Given the description of an element on the screen output the (x, y) to click on. 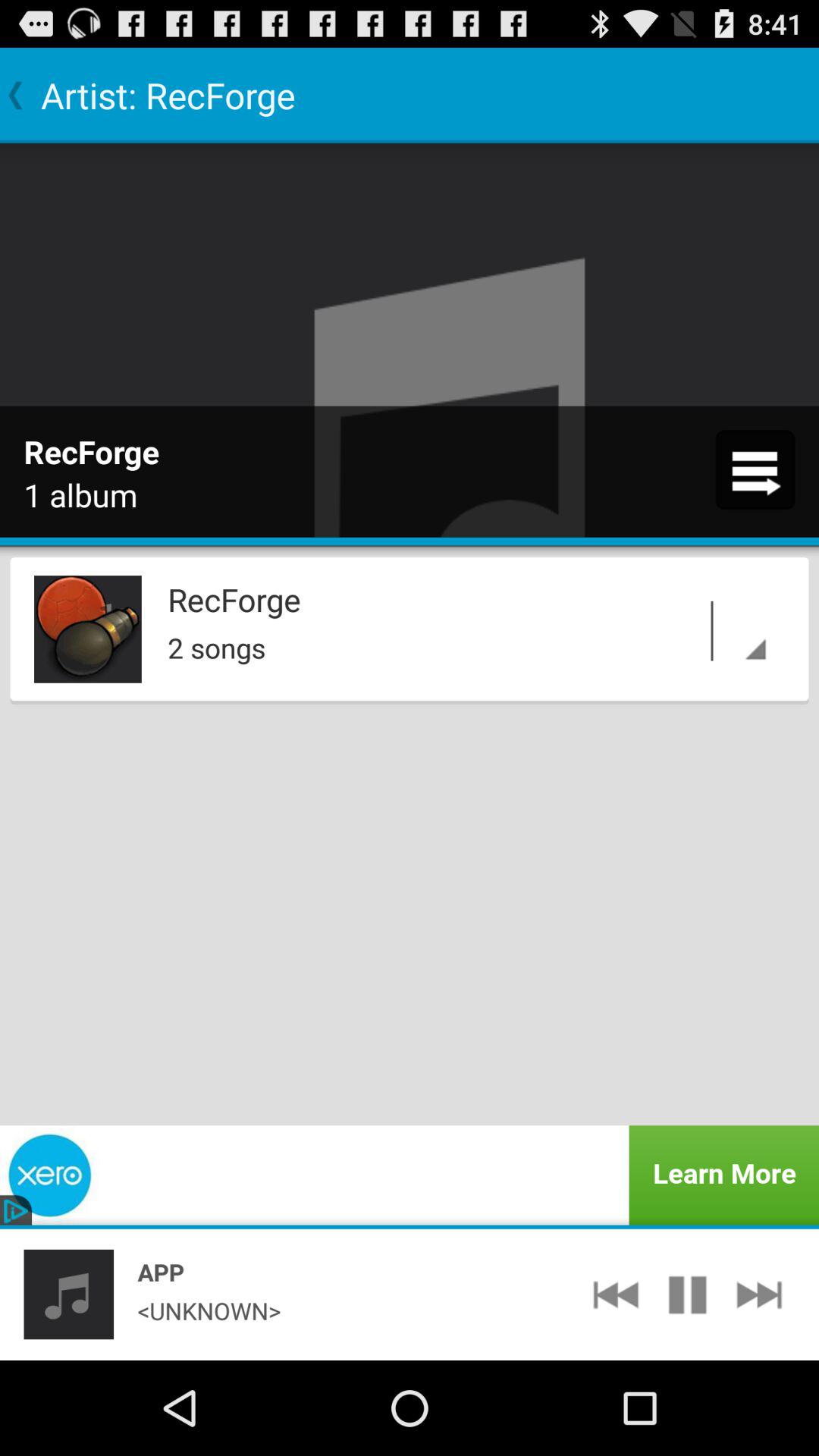
choose icon at the top right corner (755, 469)
